Given the description of an element on the screen output the (x, y) to click on. 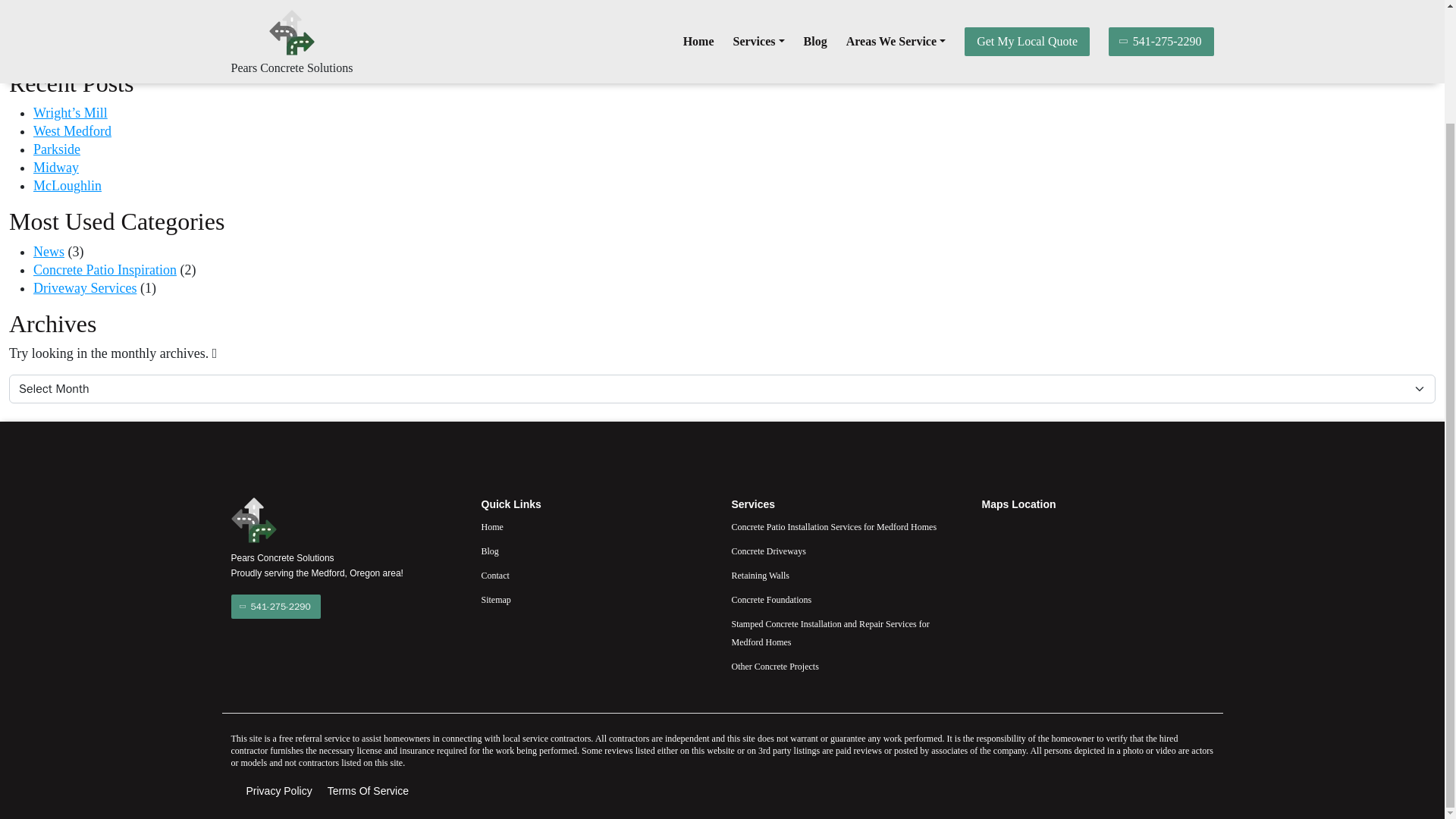
Midway (55, 167)
McLoughlin (67, 185)
Search (1406, 54)
Parkside (56, 149)
Search (1406, 54)
News (48, 251)
West Medford (72, 130)
Concrete Patio Inspiration (104, 269)
Driveway Services (84, 287)
Search (1406, 54)
